Given the description of an element on the screen output the (x, y) to click on. 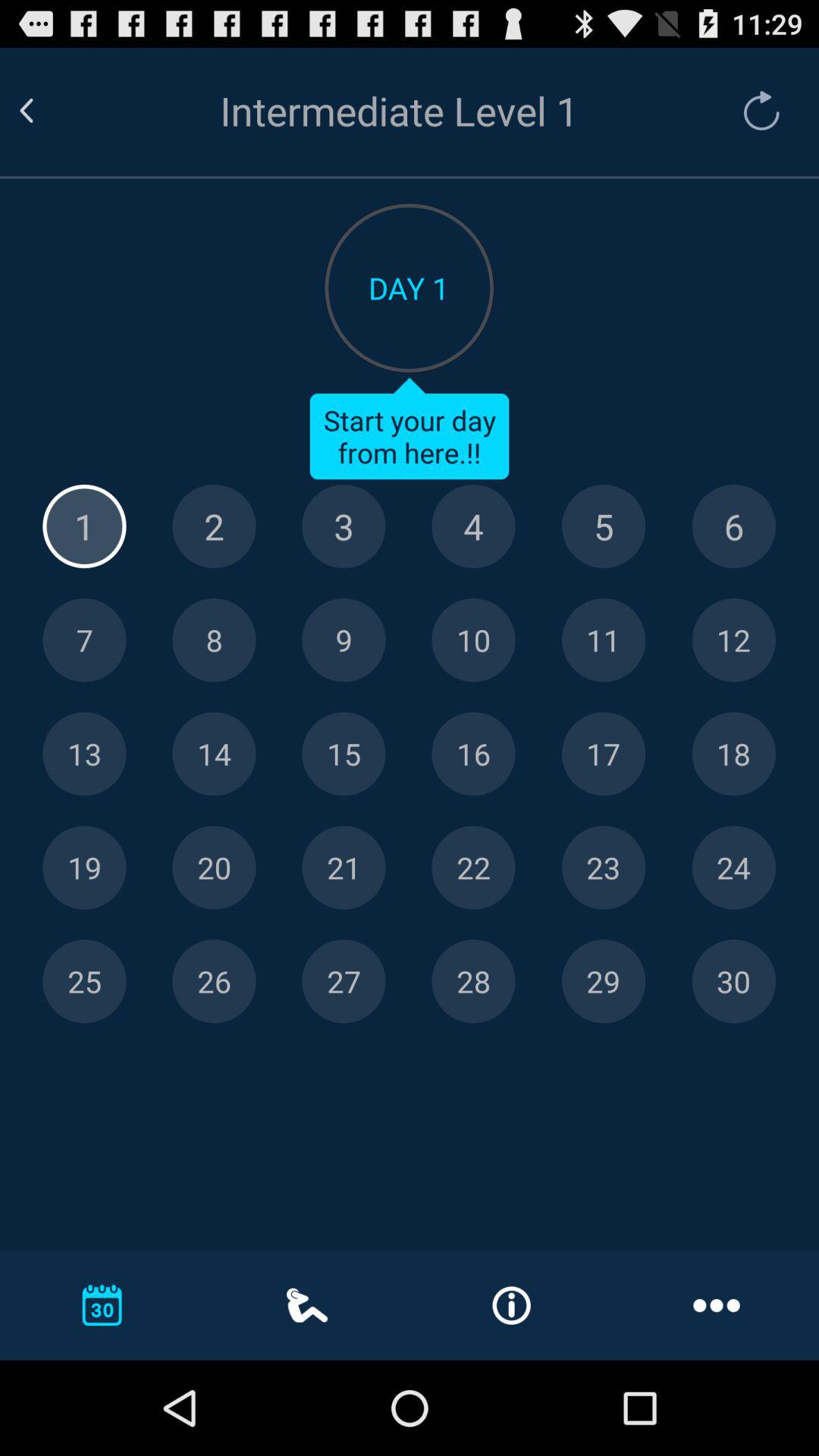
day 20 (213, 867)
